Given the description of an element on the screen output the (x, y) to click on. 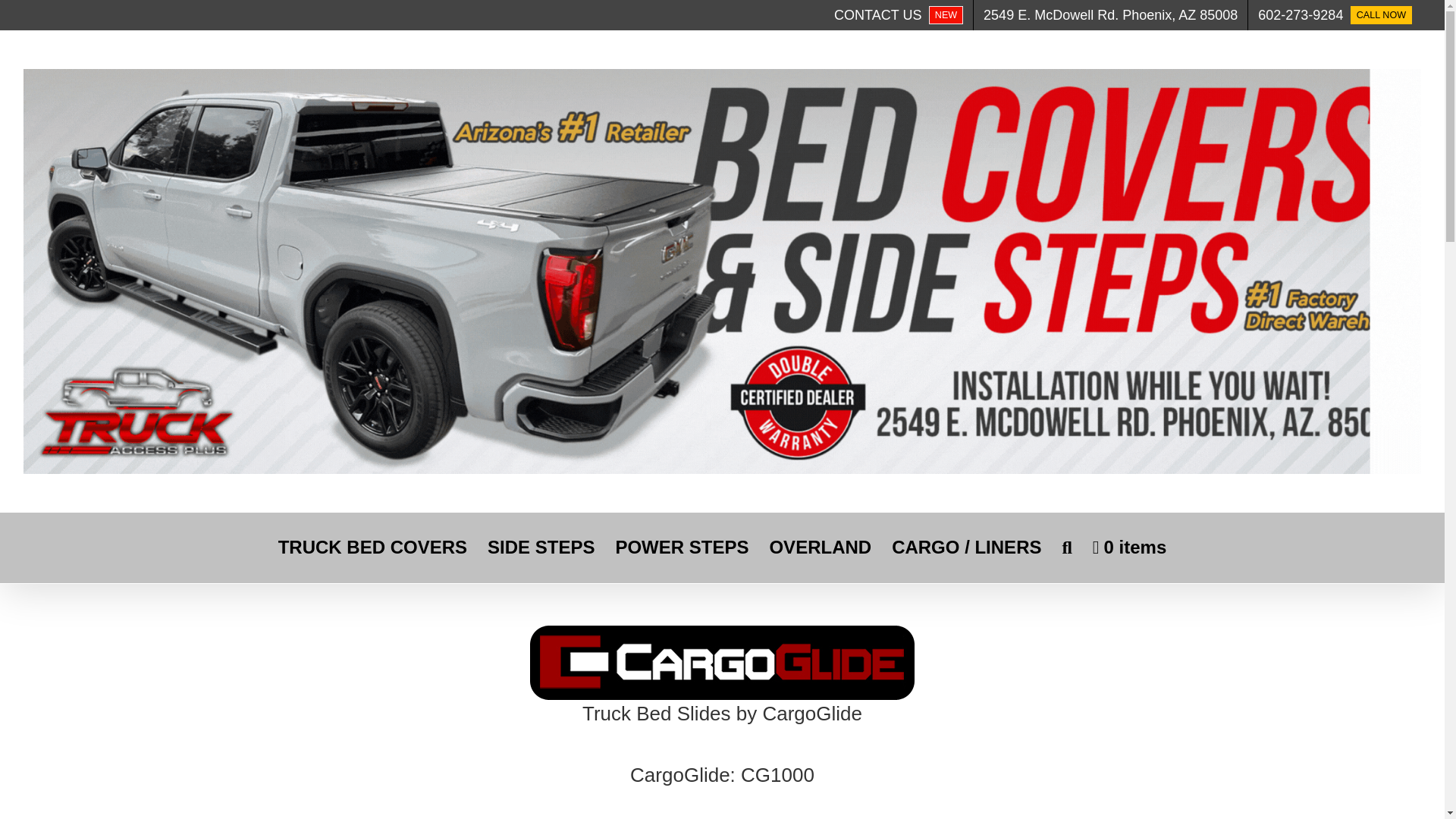
SIDE STEPS (540, 547)
2549 E. McDowell Rd. Phoenix, AZ 85008 (1334, 15)
Truck Bed Slides by CargoGlide (1110, 15)
POWER STEPS (721, 693)
TRUCK BED COVERS (681, 547)
Start shopping (898, 15)
OVERLAND (372, 547)
0 items (1129, 547)
cargo glide (819, 547)
